Given the description of an element on the screen output the (x, y) to click on. 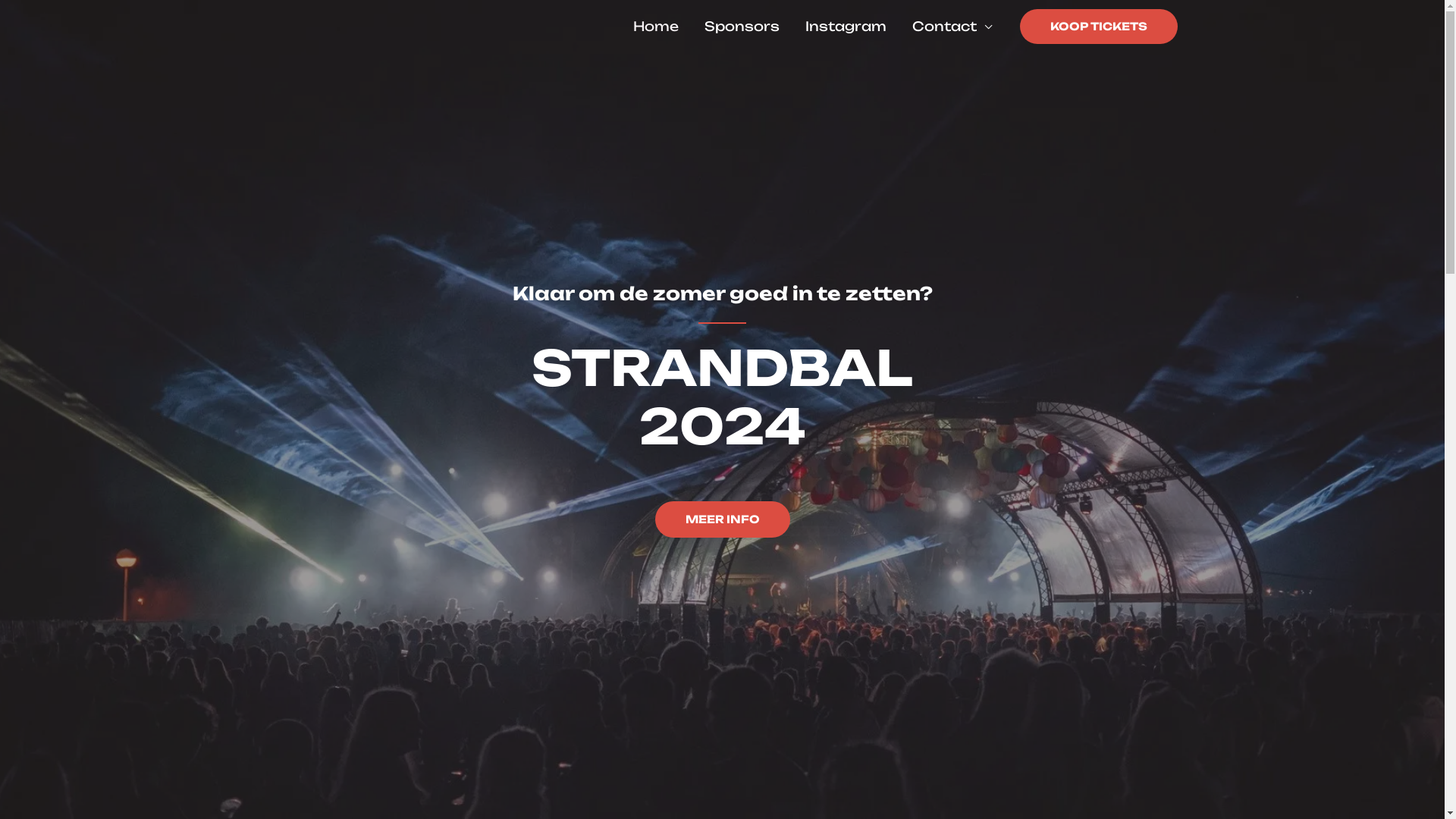
Contact Element type: text (951, 26)
MEER INFO Element type: text (722, 519)
KOOP TICKETS Element type: text (1097, 26)
Instagram Element type: text (844, 26)
Home Element type: text (655, 26)
Sponsors Element type: text (741, 26)
